Given the description of an element on the screen output the (x, y) to click on. 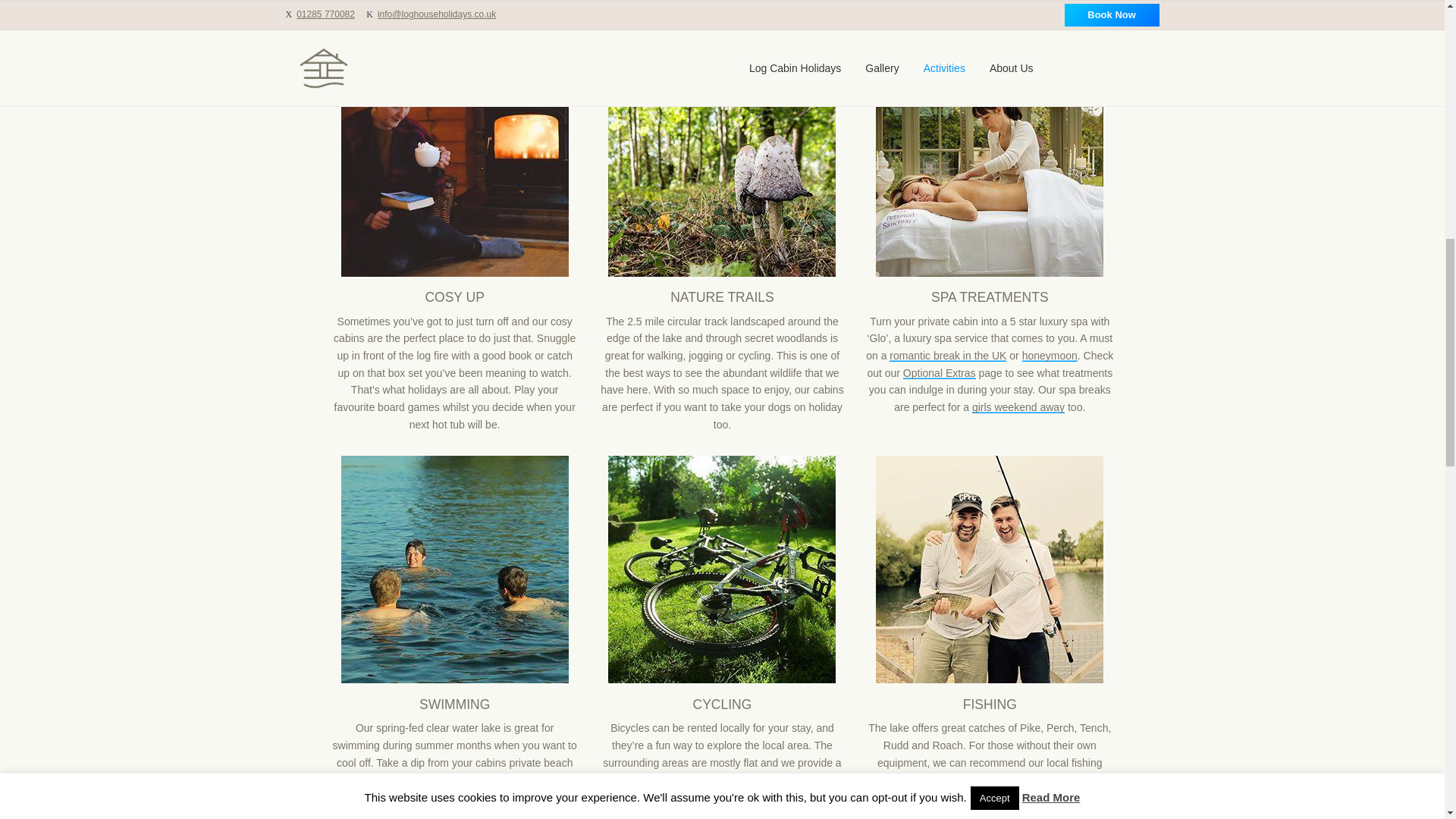
Cotswold holiday guide (729, 797)
FAQ (995, 797)
romantic break in the UK (947, 355)
girls weekend away (1018, 407)
Optional Extras (938, 372)
honeymoon (1049, 355)
The Tackle Den (934, 779)
